Given the description of an element on the screen output the (x, y) to click on. 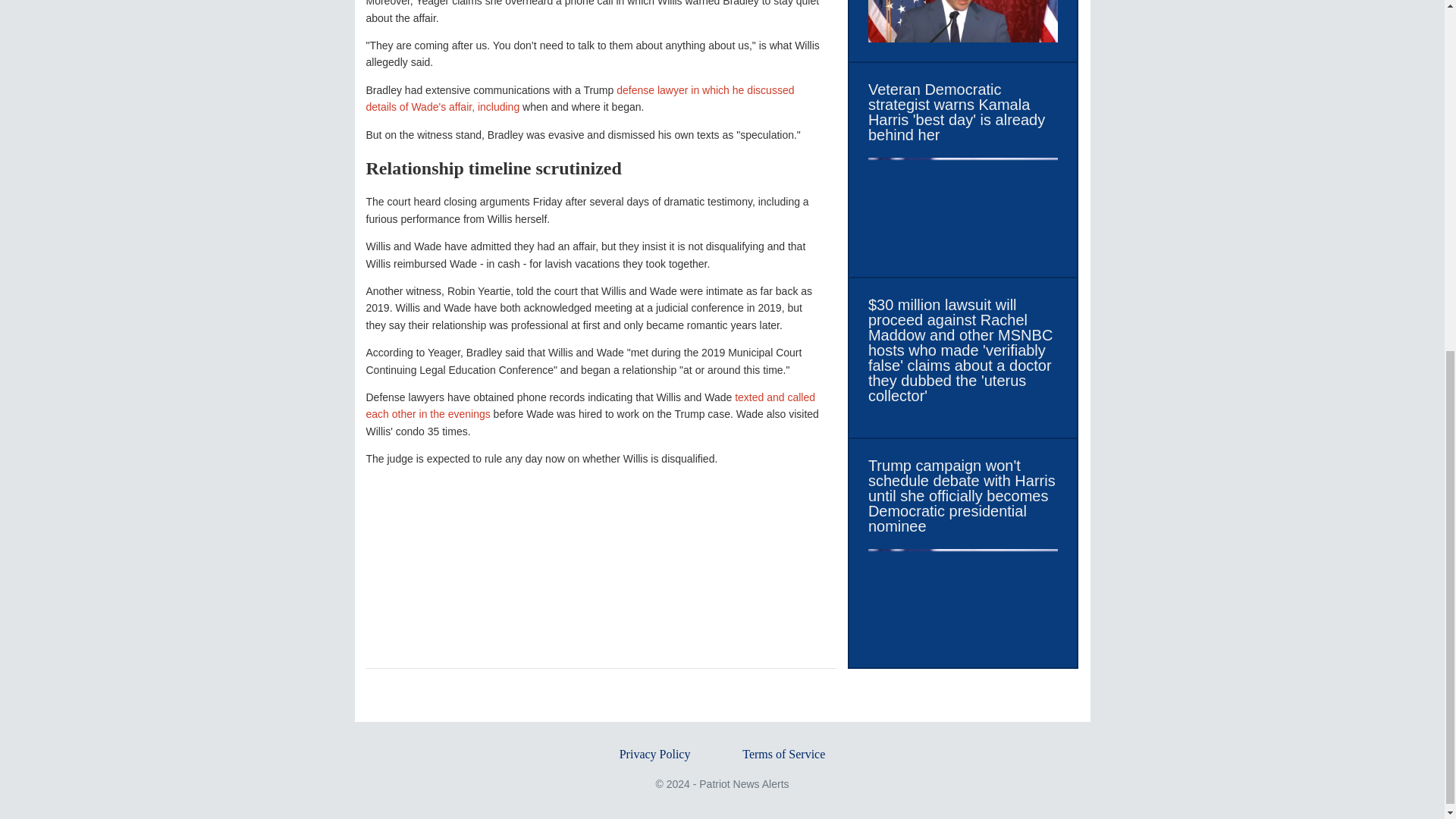
Terms of Service (783, 754)
Privacy Policy (655, 754)
texted and called each other in the evenings (590, 405)
